Given the description of an element on the screen output the (x, y) to click on. 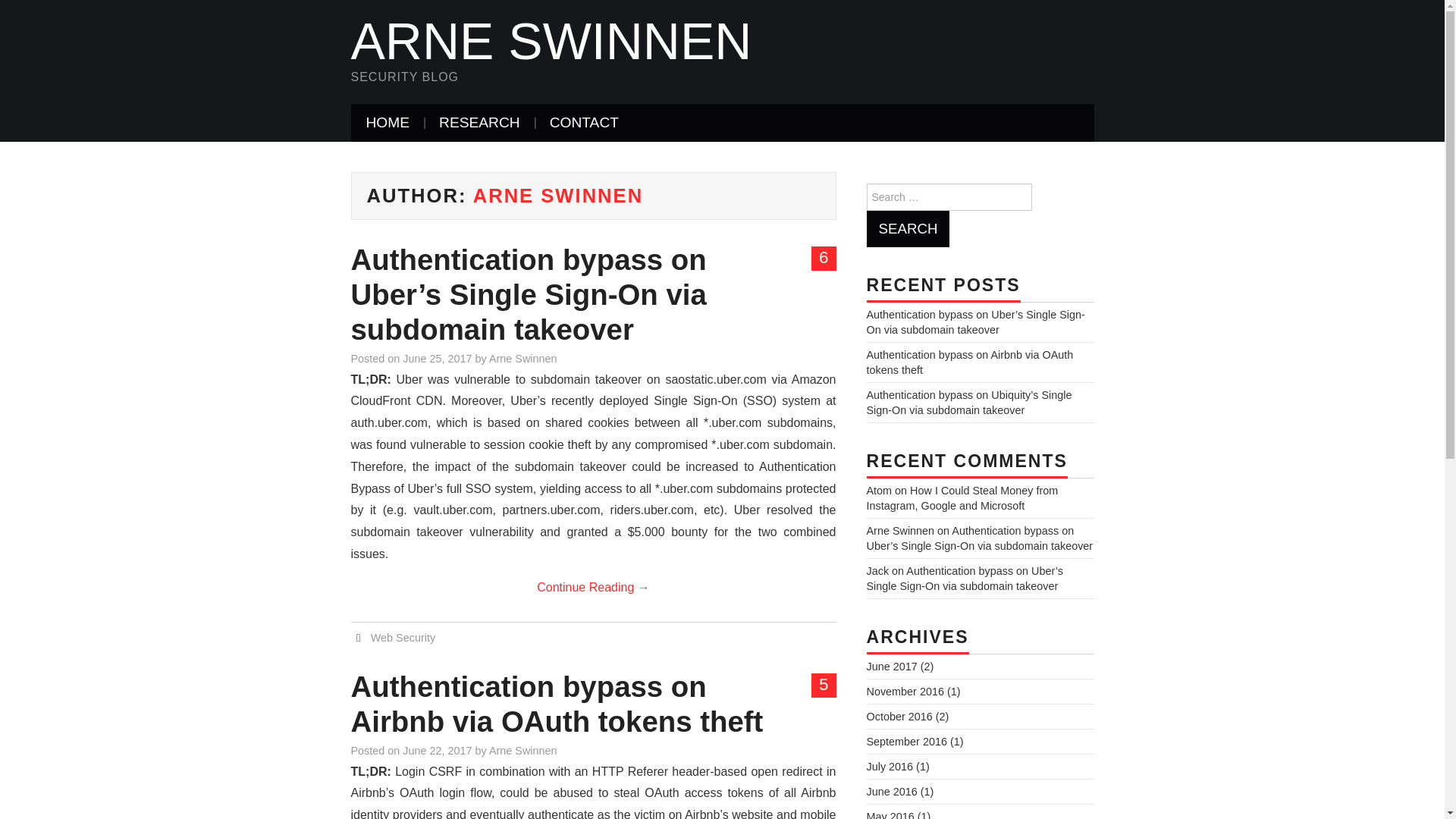
5 (822, 685)
Search (907, 228)
Authentication bypass on Airbnb via OAuth tokens theft (969, 361)
June 25, 2017 (437, 358)
Web Security (403, 637)
November 2016 (904, 691)
Arne Swinnen (550, 40)
View all posts by Arne Swinnen (523, 358)
CONTACT (583, 122)
ARNE SWINNEN (550, 40)
